Given the description of an element on the screen output the (x, y) to click on. 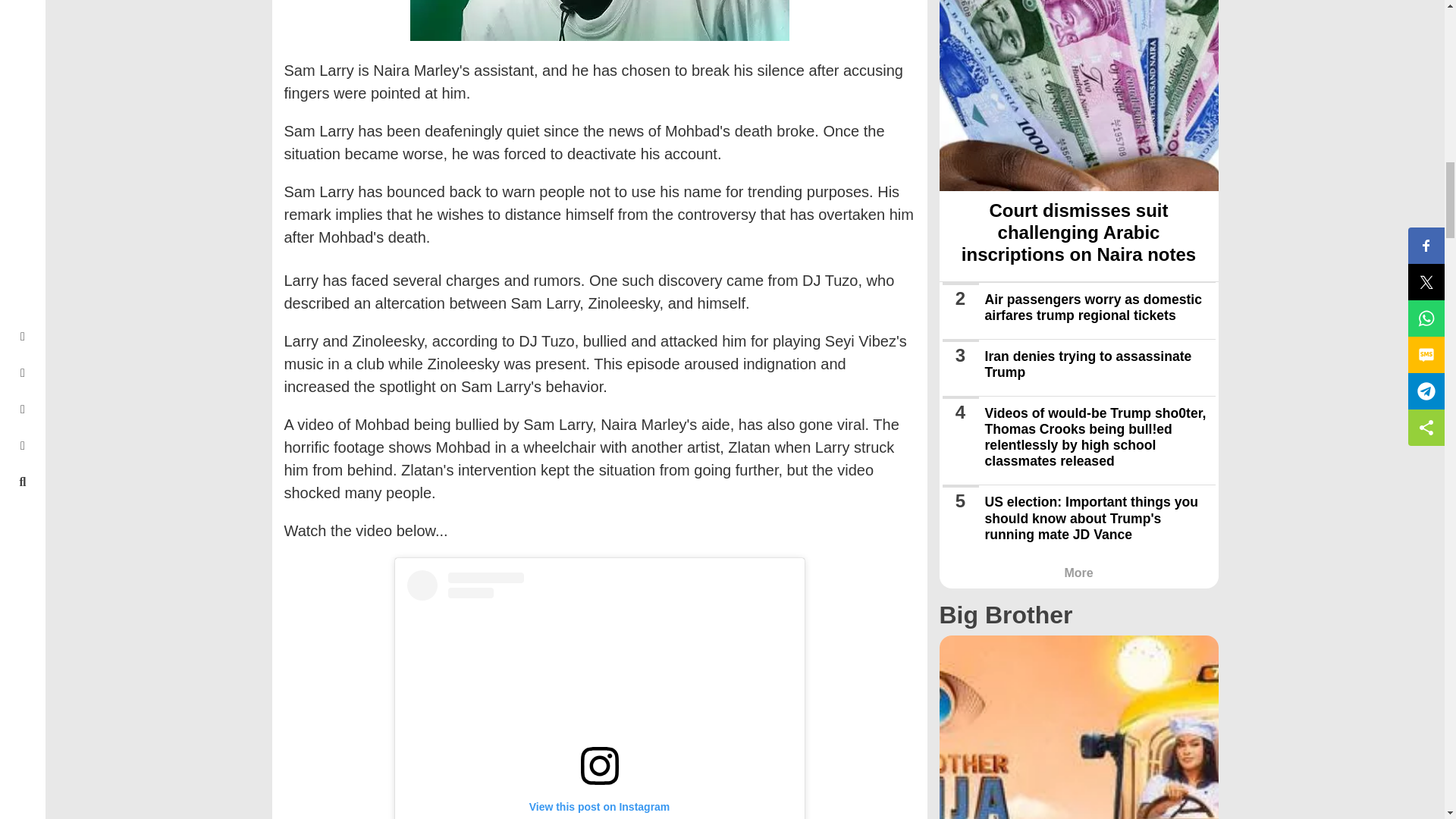
'Don't use me to trend' - Sam Larry speaks from hiding place (599, 20)
View this post on Instagram (599, 694)
